Given the description of an element on the screen output the (x, y) to click on. 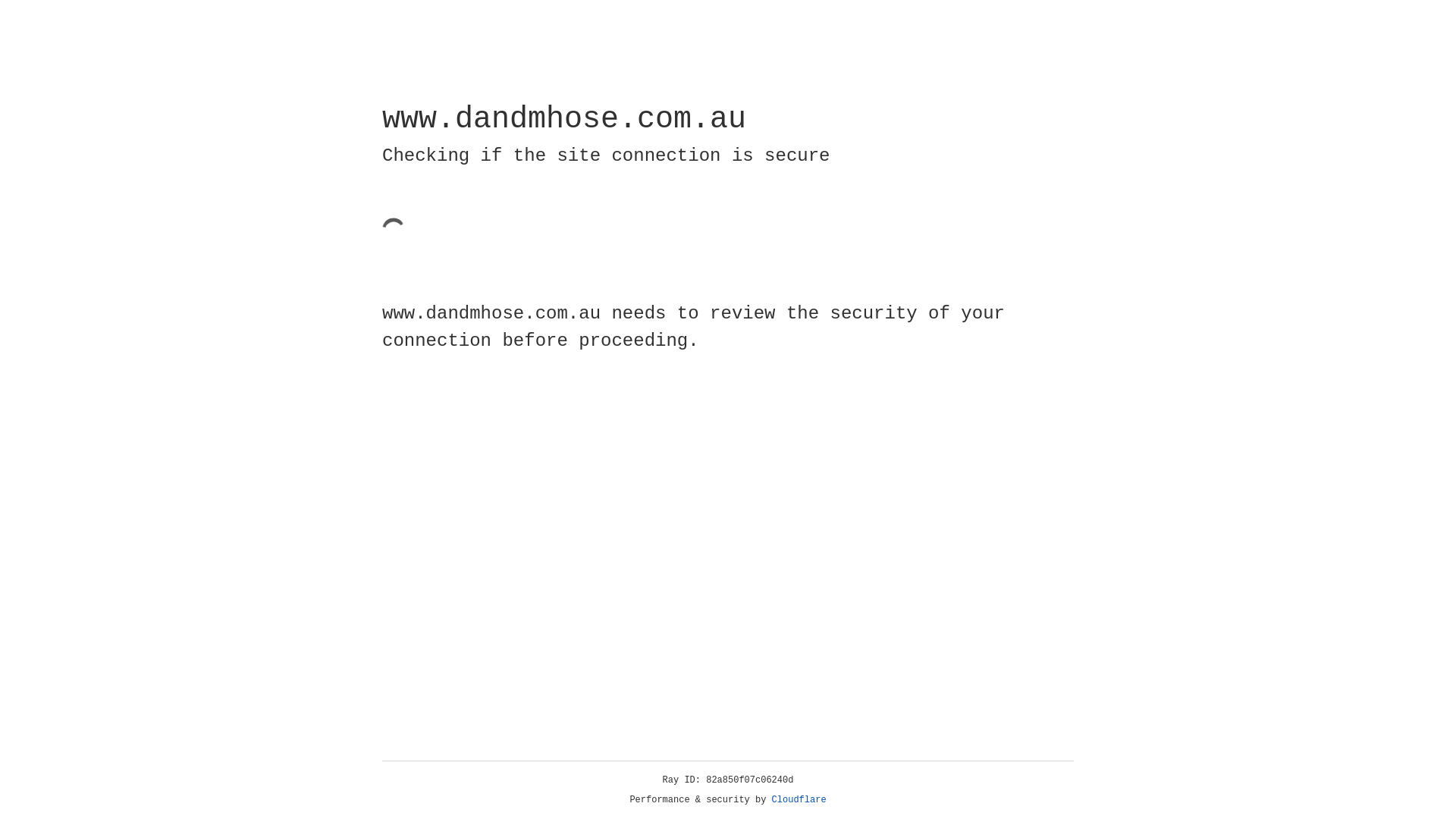
Cloudflare Element type: text (798, 799)
